Given the description of an element on the screen output the (x, y) to click on. 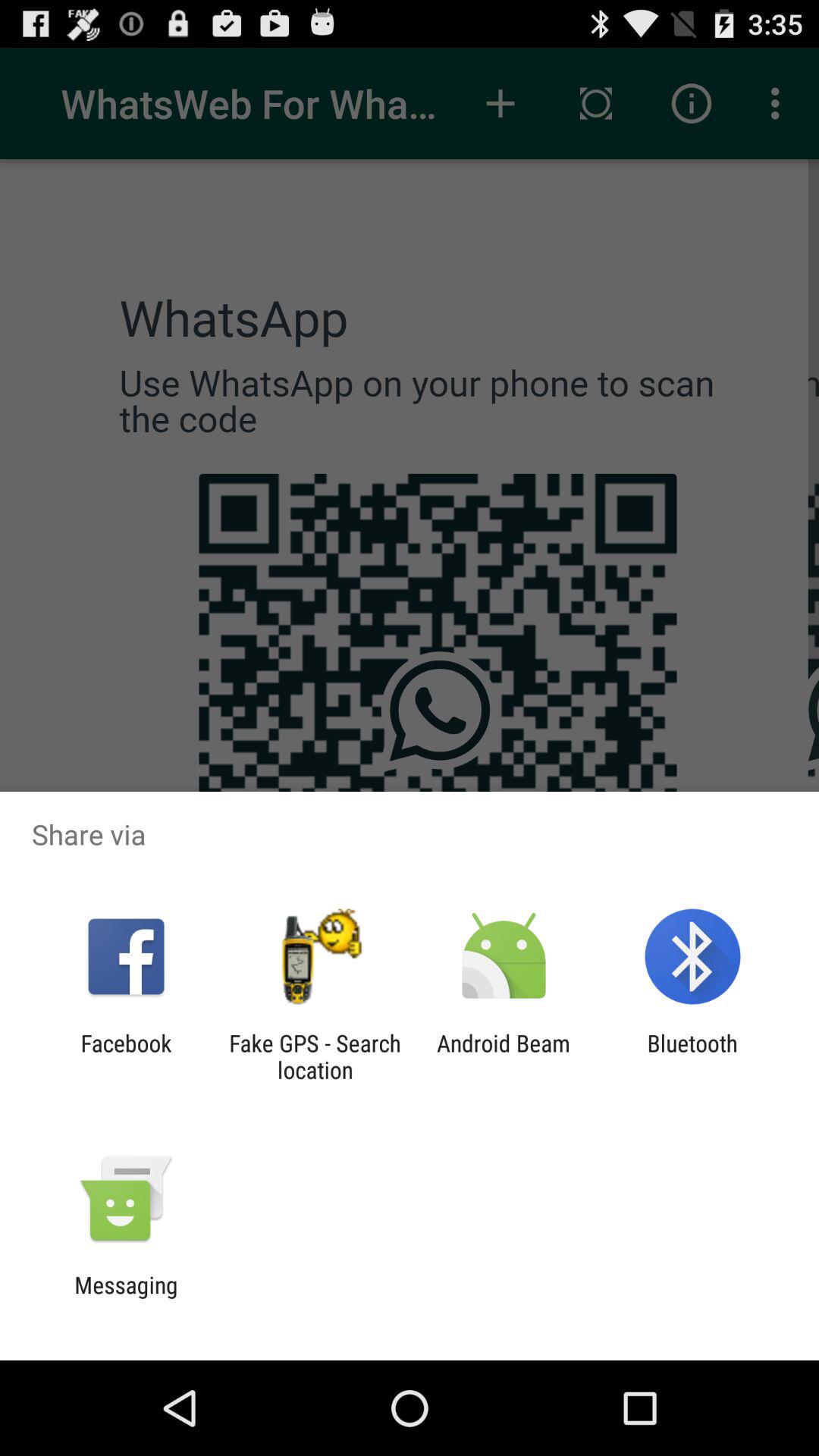
open the app to the left of the android beam item (314, 1056)
